Given the description of an element on the screen output the (x, y) to click on. 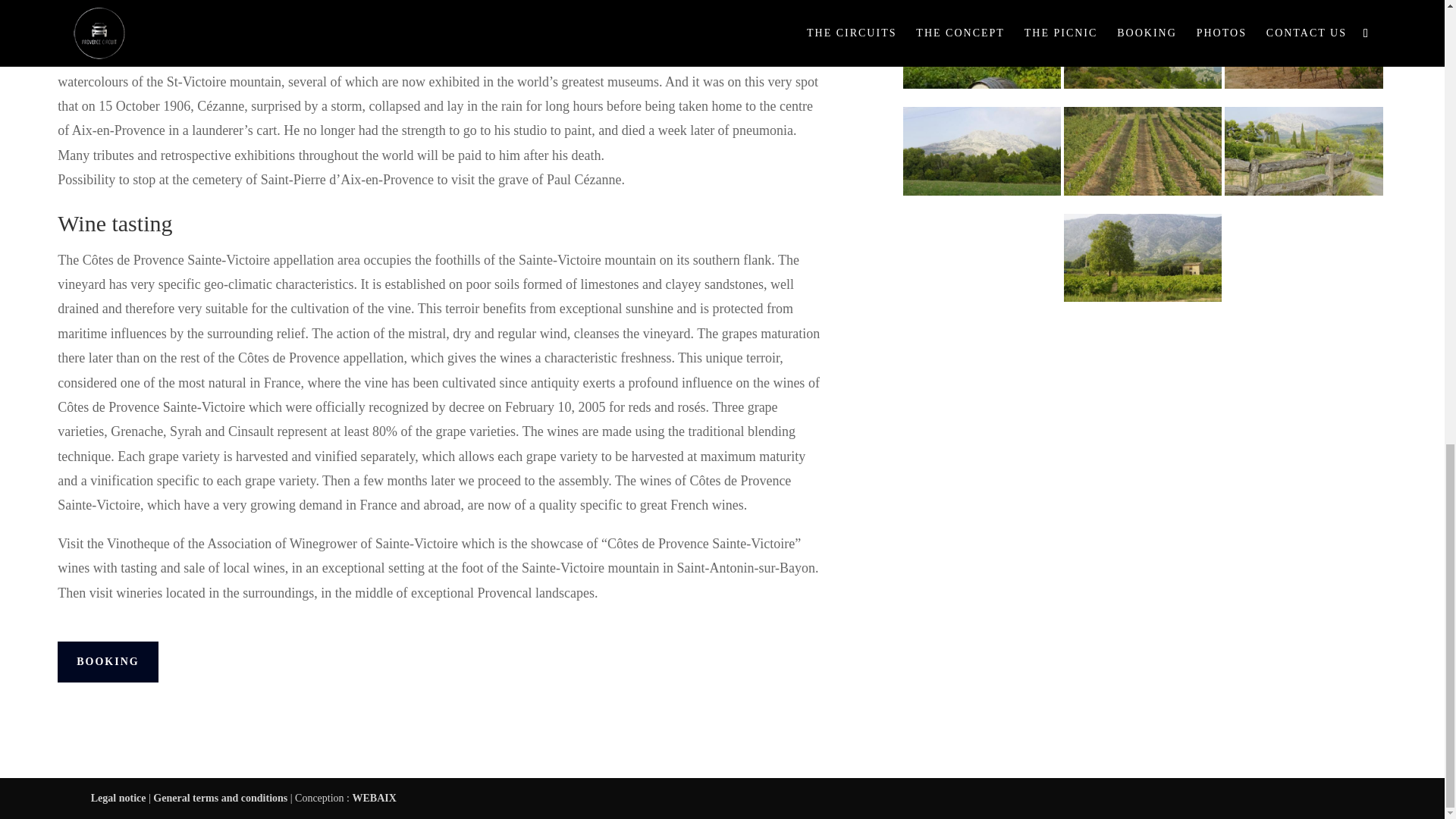
BOOKING (107, 661)
